Given the description of an element on the screen output the (x, y) to click on. 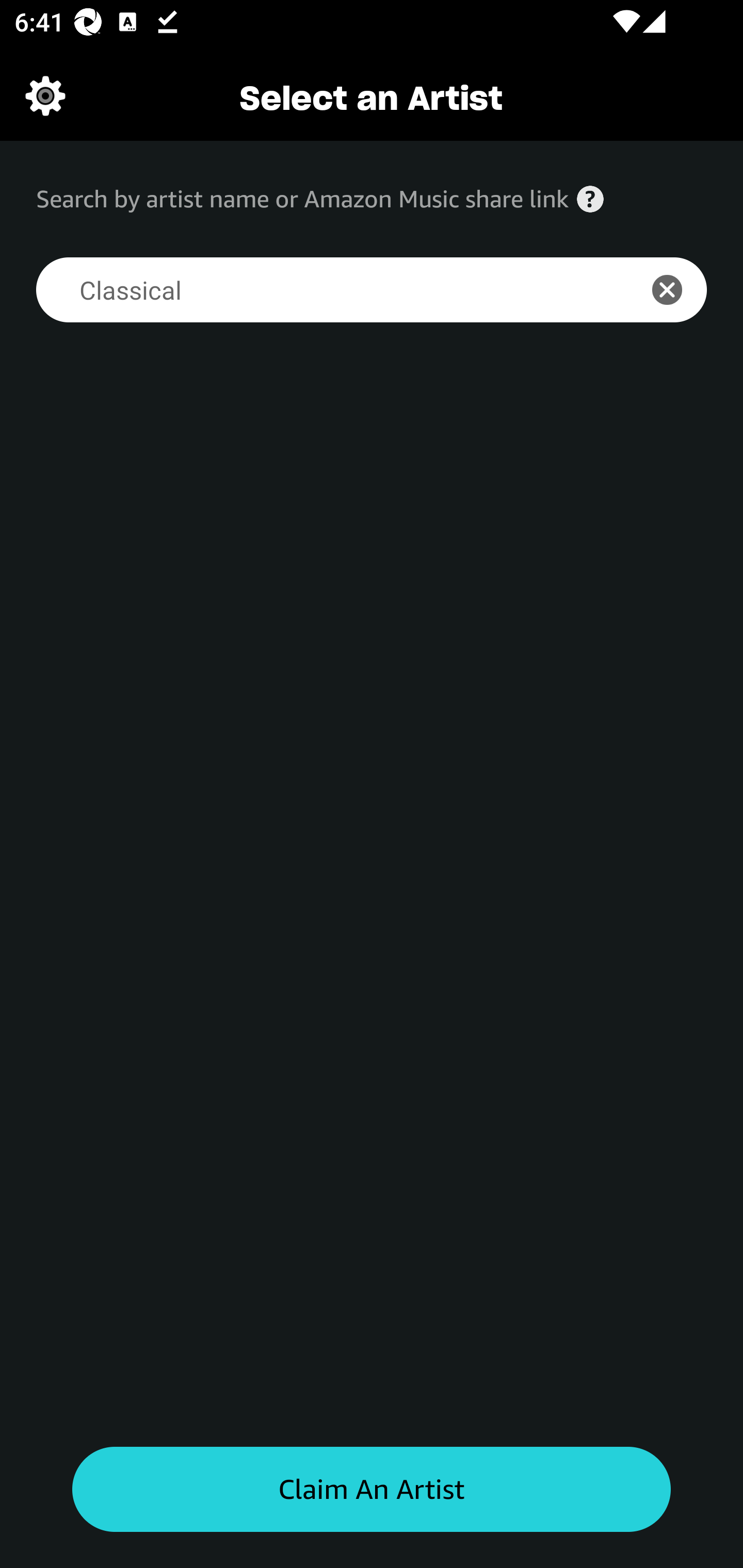
Help  icon (589, 199)
Classical Search for an artist search bar (324, 290)
 icon (677, 290)
Claim an artist button Claim An Artist (371, 1489)
